Given the description of an element on the screen output the (x, y) to click on. 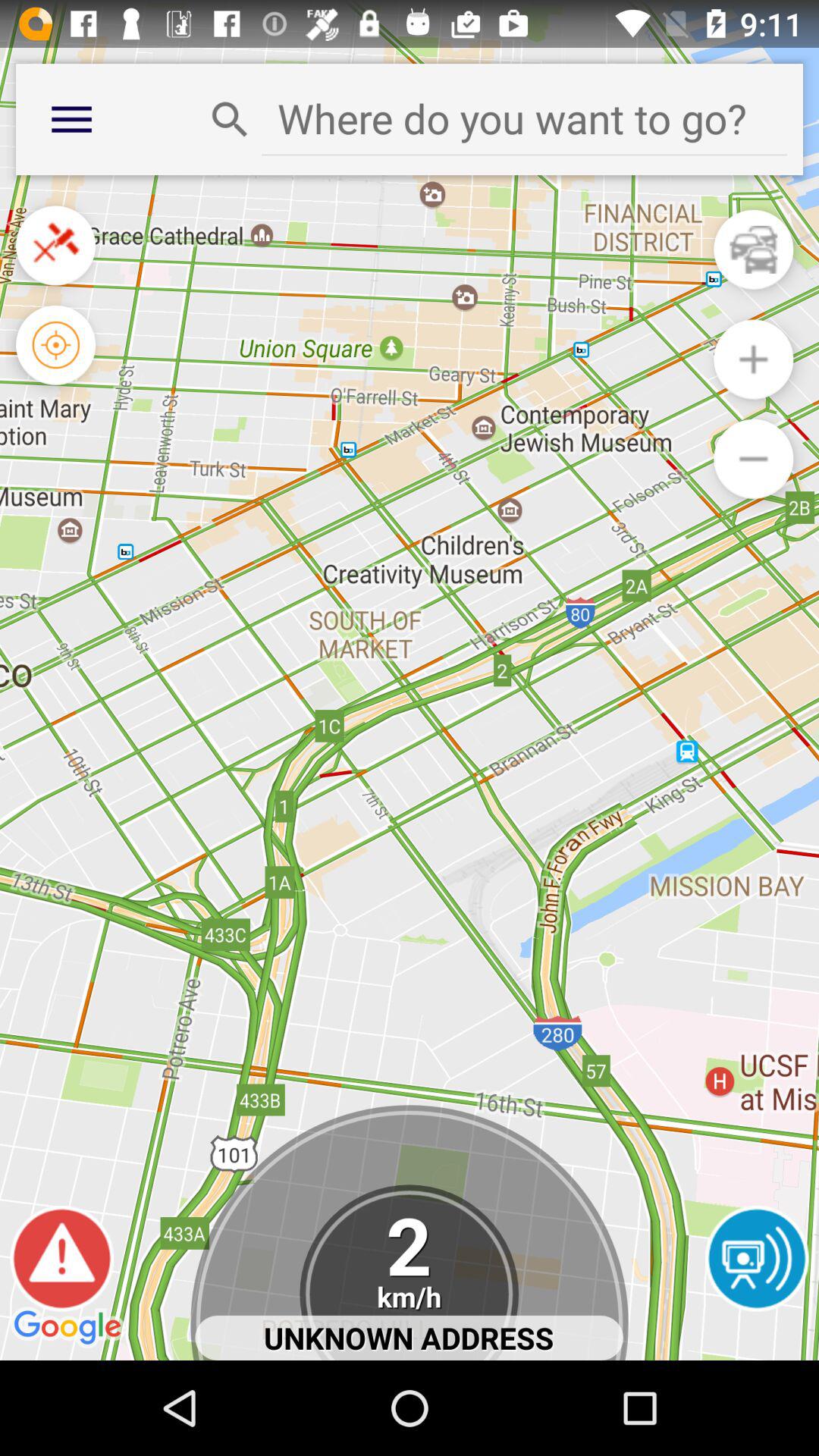
changes from km to miles/h (408, 1272)
